Given the description of an element on the screen output the (x, y) to click on. 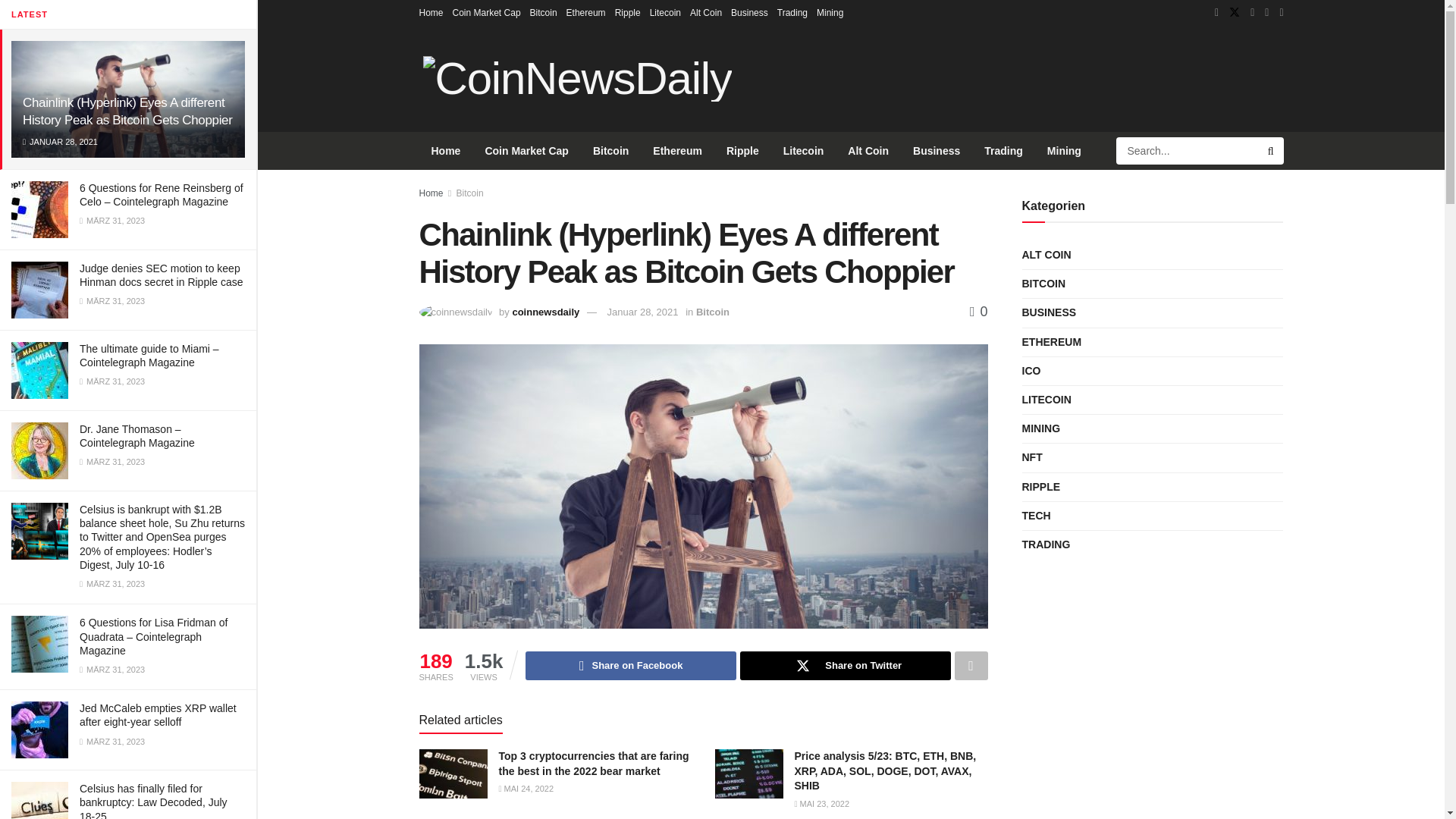
Coin Market Cap (486, 12)
Mining (829, 12)
Ripple (627, 12)
Bitcoin (543, 12)
Business (749, 12)
Trading (792, 12)
Alt Coin (706, 12)
Home (430, 12)
Litecoin (665, 12)
Ethereum (585, 12)
Jed McCaleb empties XRP wallet after eight-year selloff (157, 714)
